Given the description of an element on the screen output the (x, y) to click on. 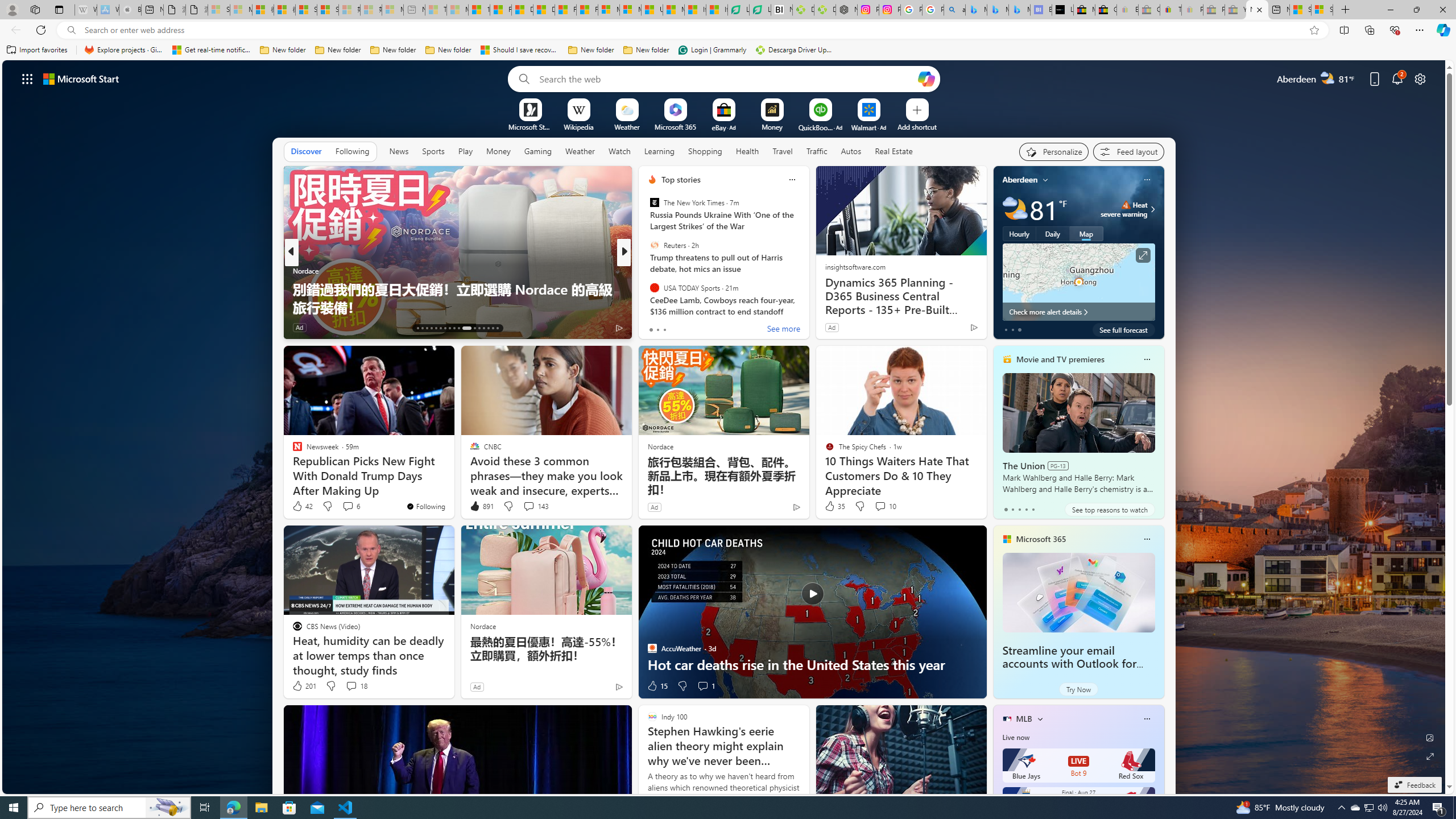
LendingTree - Compare Lenders (760, 9)
Sports (432, 151)
View comments 66 Comment (6, 327)
tab-3 (1025, 509)
AutomationID: tab-21 (454, 328)
Search icon (70, 29)
View comments 14 Comment (6, 327)
Traffic (816, 151)
